Given the description of an element on the screen output the (x, y) to click on. 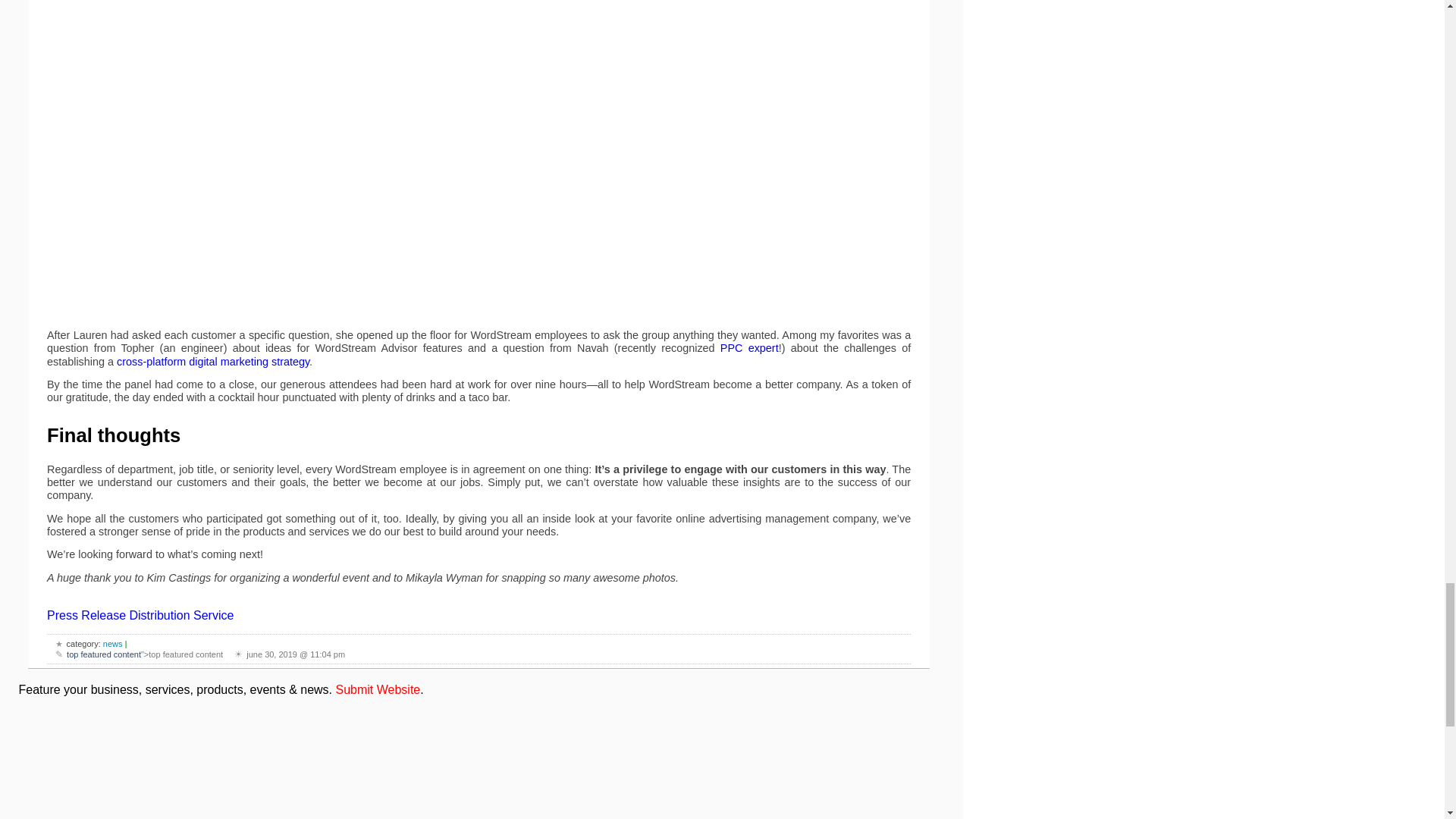
Submit Website (377, 689)
news (112, 643)
top featured content (103, 654)
PPC expert (749, 347)
Press Release Distribution Service (139, 615)
cross-platform digital marketing strategy (212, 361)
